Given the description of an element on the screen output the (x, y) to click on. 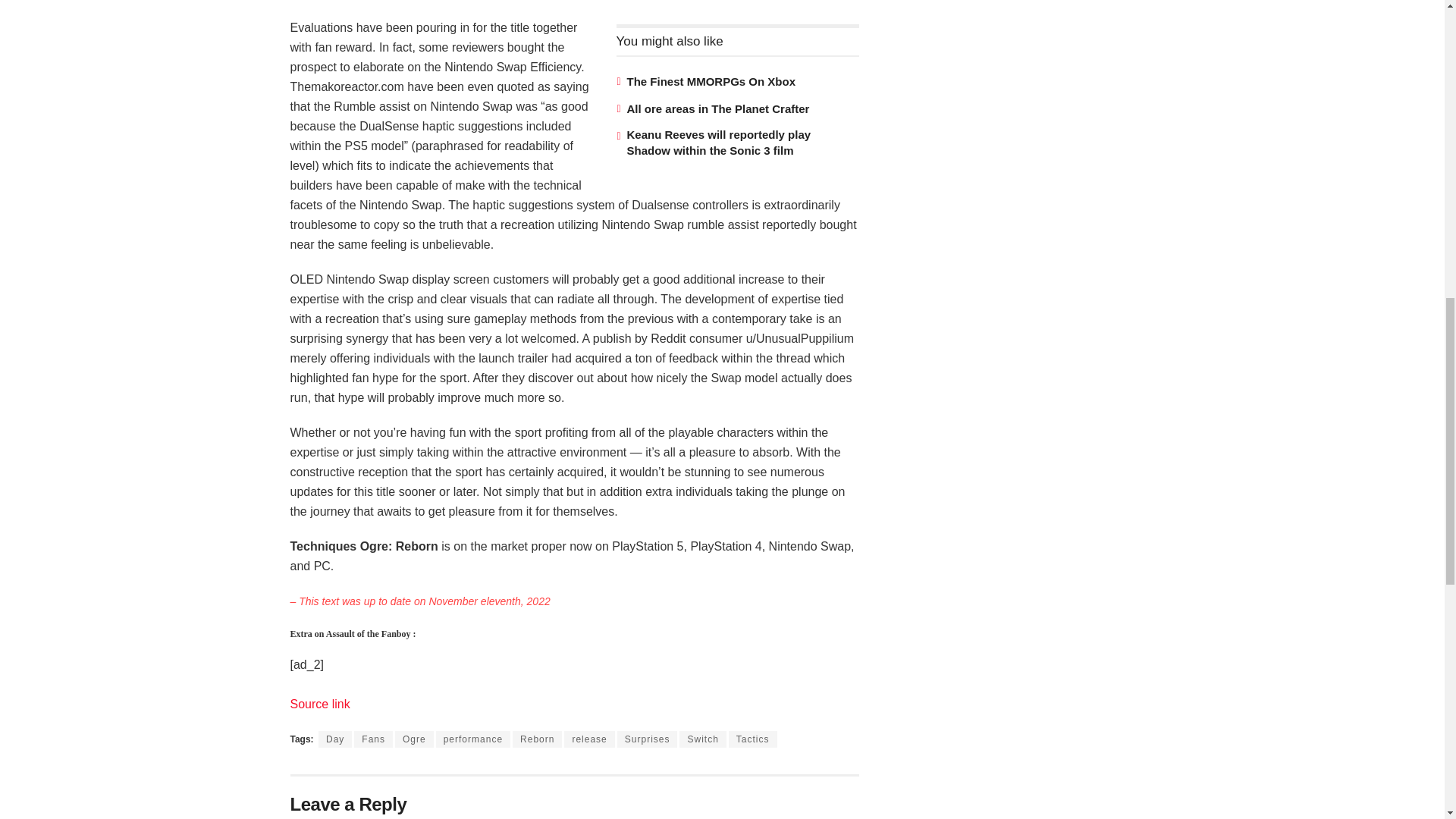
Fans (373, 739)
Reborn (537, 739)
All ore areas in The Planet Crafter (717, 108)
The Finest MMORPGs On Xbox (710, 81)
Day (335, 739)
Source link (319, 703)
performance (473, 739)
Ogre (413, 739)
